Given the description of an element on the screen output the (x, y) to click on. 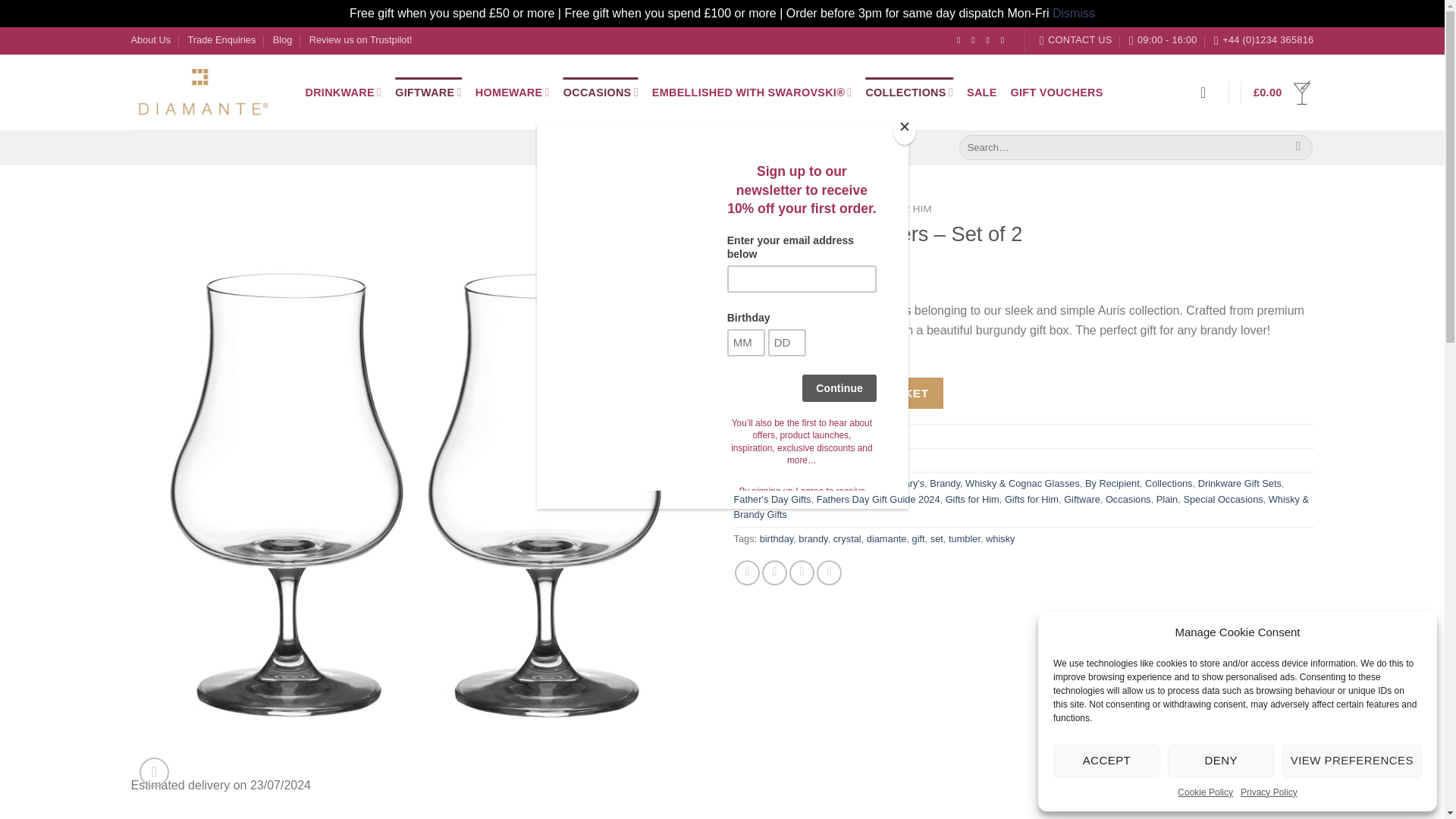
DRINKWARE (342, 91)
Cookie Policy (1205, 792)
Dismiss (1073, 12)
Privacy Policy (1268, 792)
Trade Enquiries (221, 39)
About Us (150, 39)
VIEW PREFERENCES (1352, 760)
Review us on Trustpilot! (360, 39)
DENY (1221, 760)
09:00 - 16:00 (1162, 39)
Basket (1283, 92)
ACCEPT (1106, 760)
1 (765, 392)
CONTACT US (1075, 39)
